Given the description of an element on the screen output the (x, y) to click on. 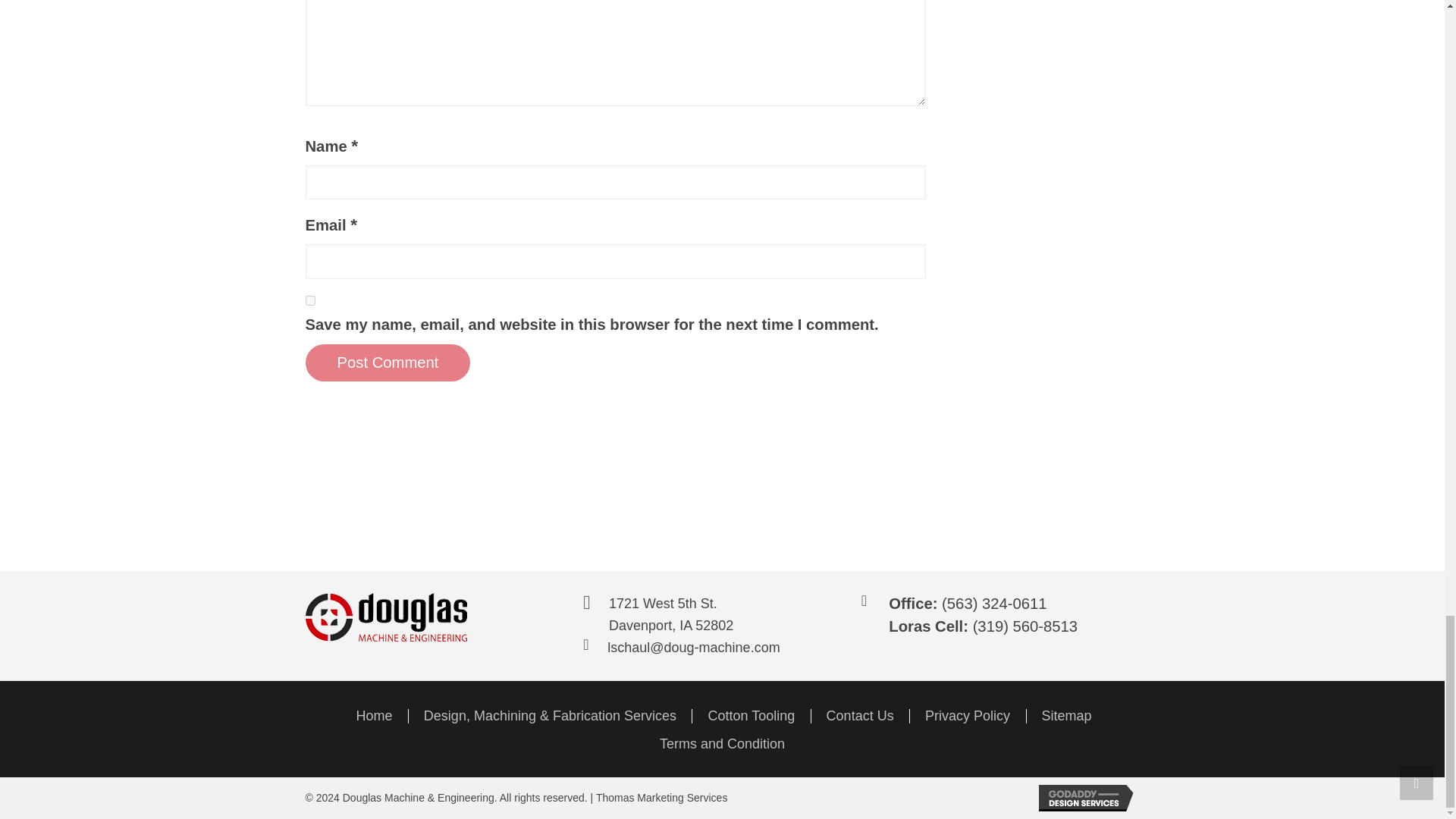
Post Comment (387, 362)
yes (309, 300)
Post Comment (387, 362)
Godaddy Design Services (1089, 797)
